Given the description of an element on the screen output the (x, y) to click on. 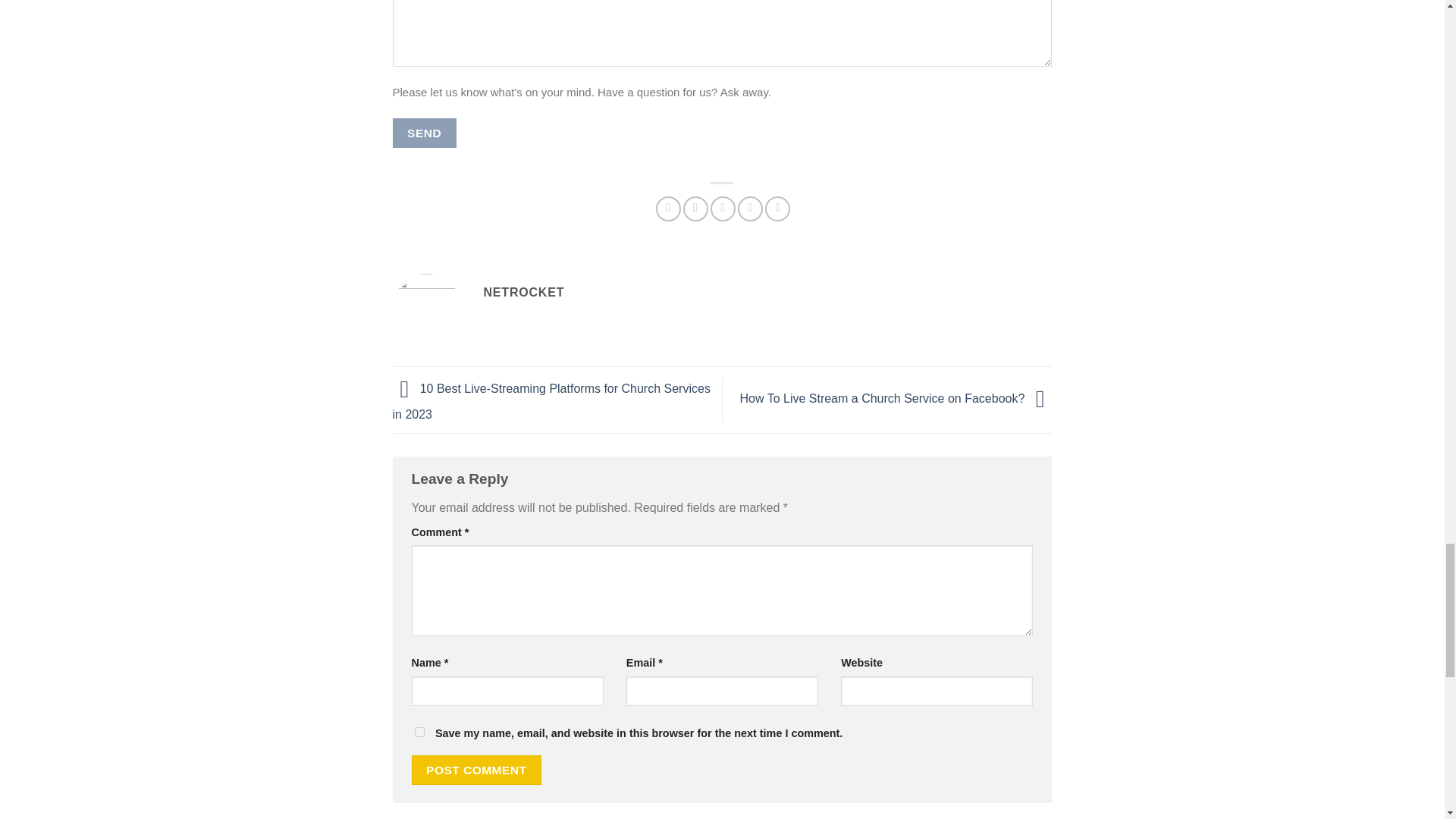
yes (418, 732)
Post Comment (475, 769)
Send (425, 132)
